Given the description of an element on the screen output the (x, y) to click on. 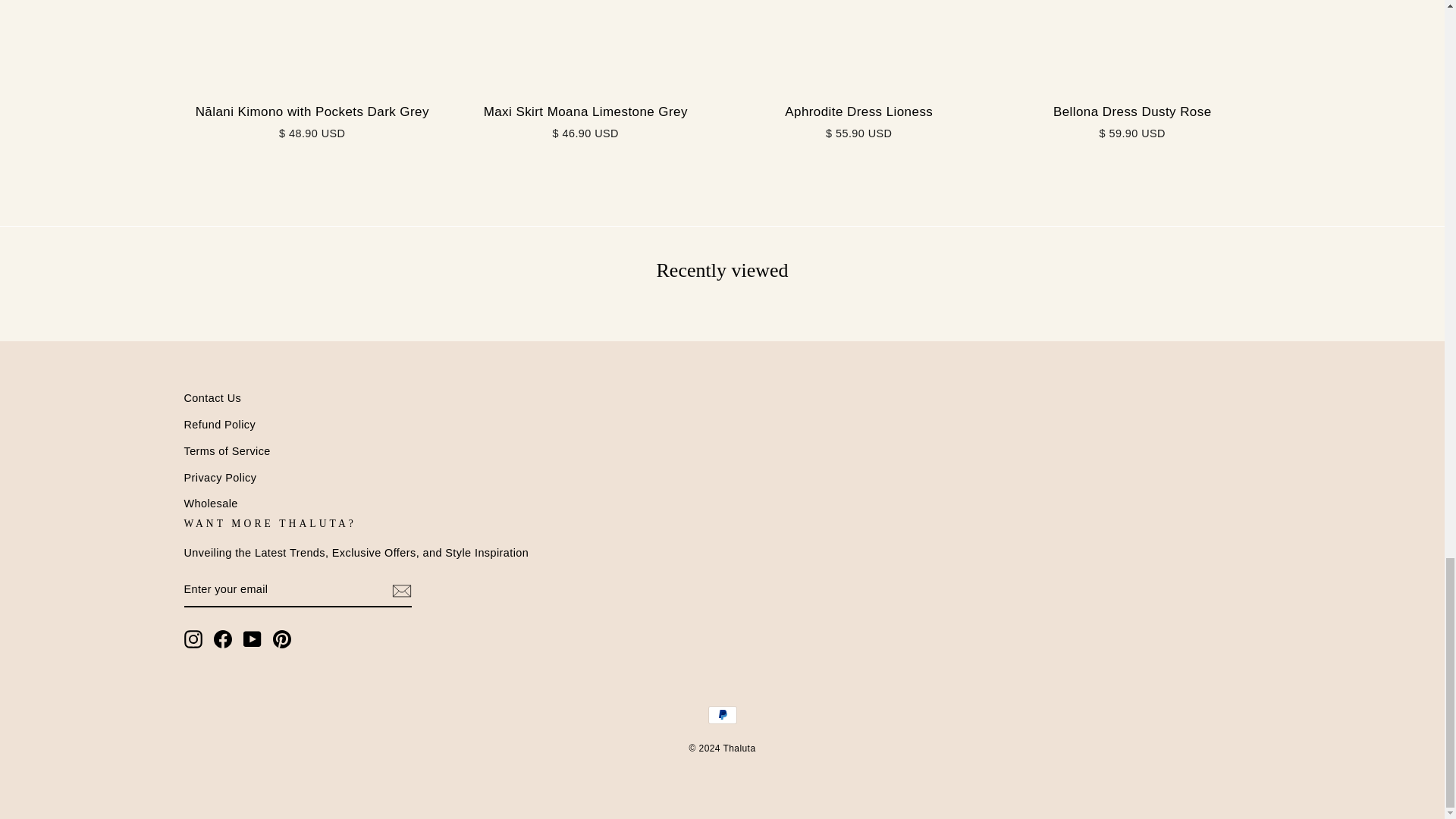
icon-email (400, 590)
Thaluta on YouTube (251, 638)
Thaluta on Pinterest (282, 638)
Thaluta on Instagram (192, 638)
instagram (192, 638)
Thaluta on Facebook (222, 638)
